Given the description of an element on the screen output the (x, y) to click on. 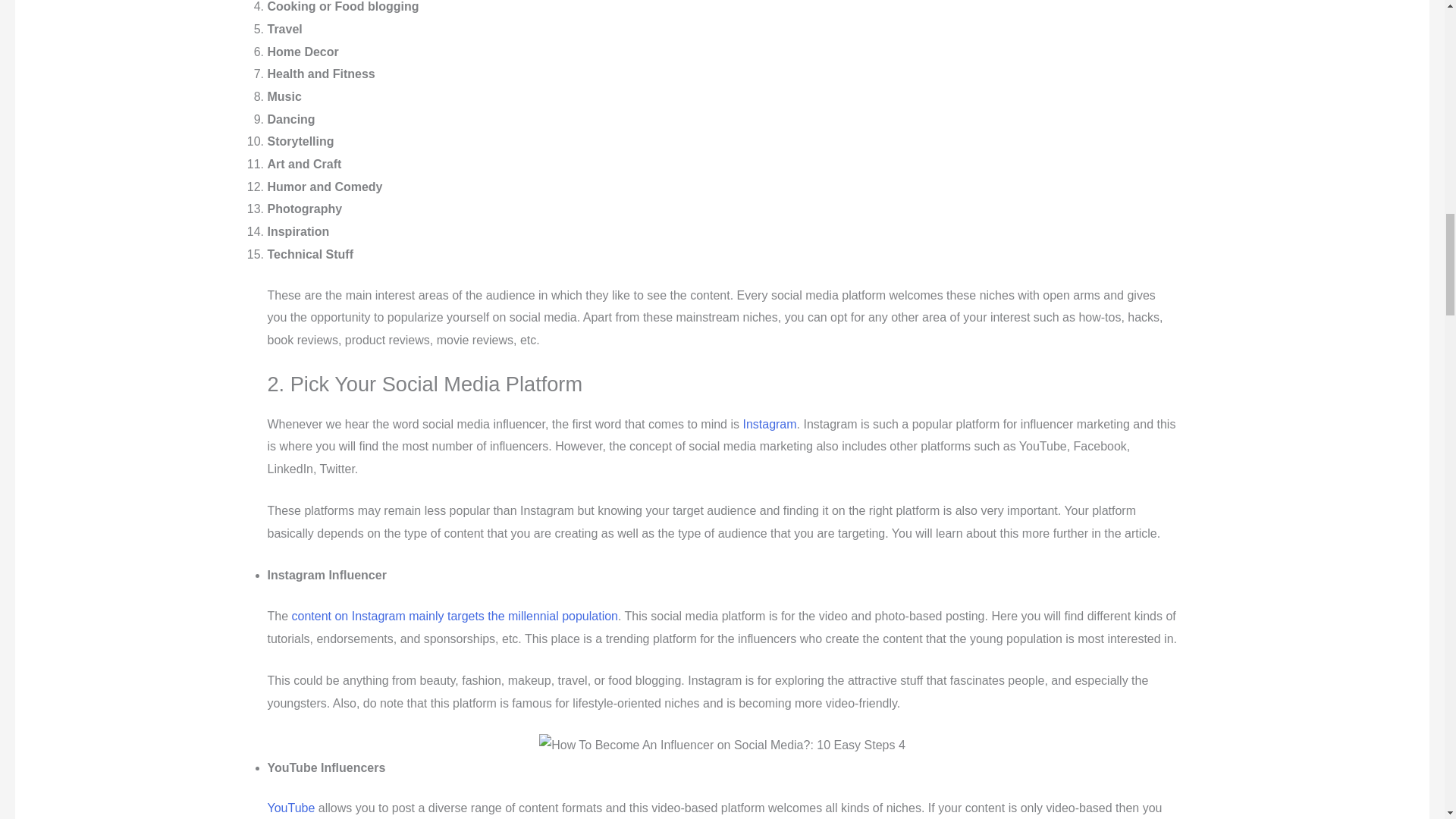
YouTube (291, 807)
Instagram (769, 423)
